Given the description of an element on the screen output the (x, y) to click on. 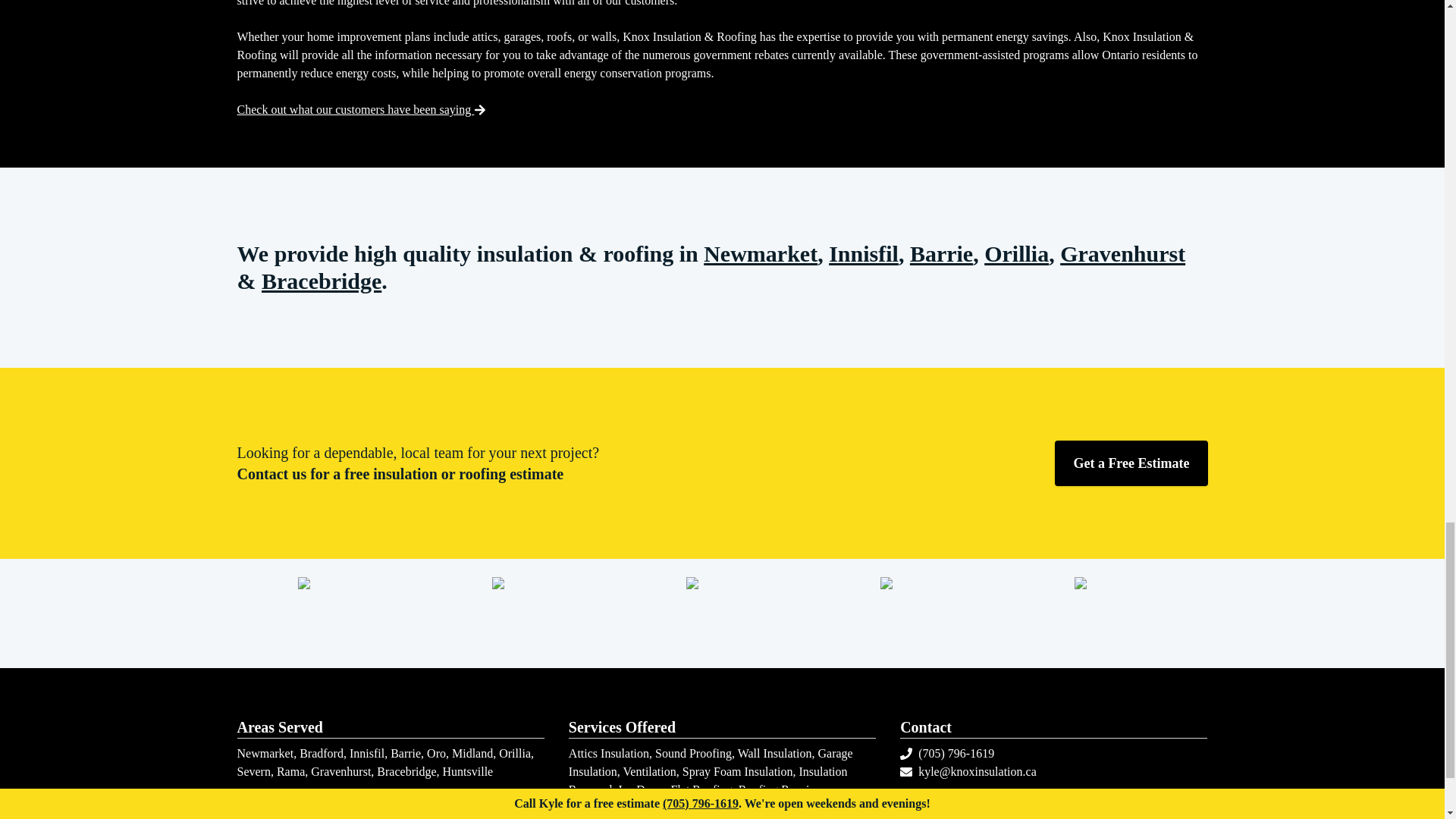
Gaf (333, 613)
Iko (721, 613)
Thermo (1110, 613)
CertainTeed (528, 613)
Check out what our customers have been saying  (360, 109)
Get a Free Estimate (1130, 463)
Ownes (915, 613)
